Given the description of an element on the screen output the (x, y) to click on. 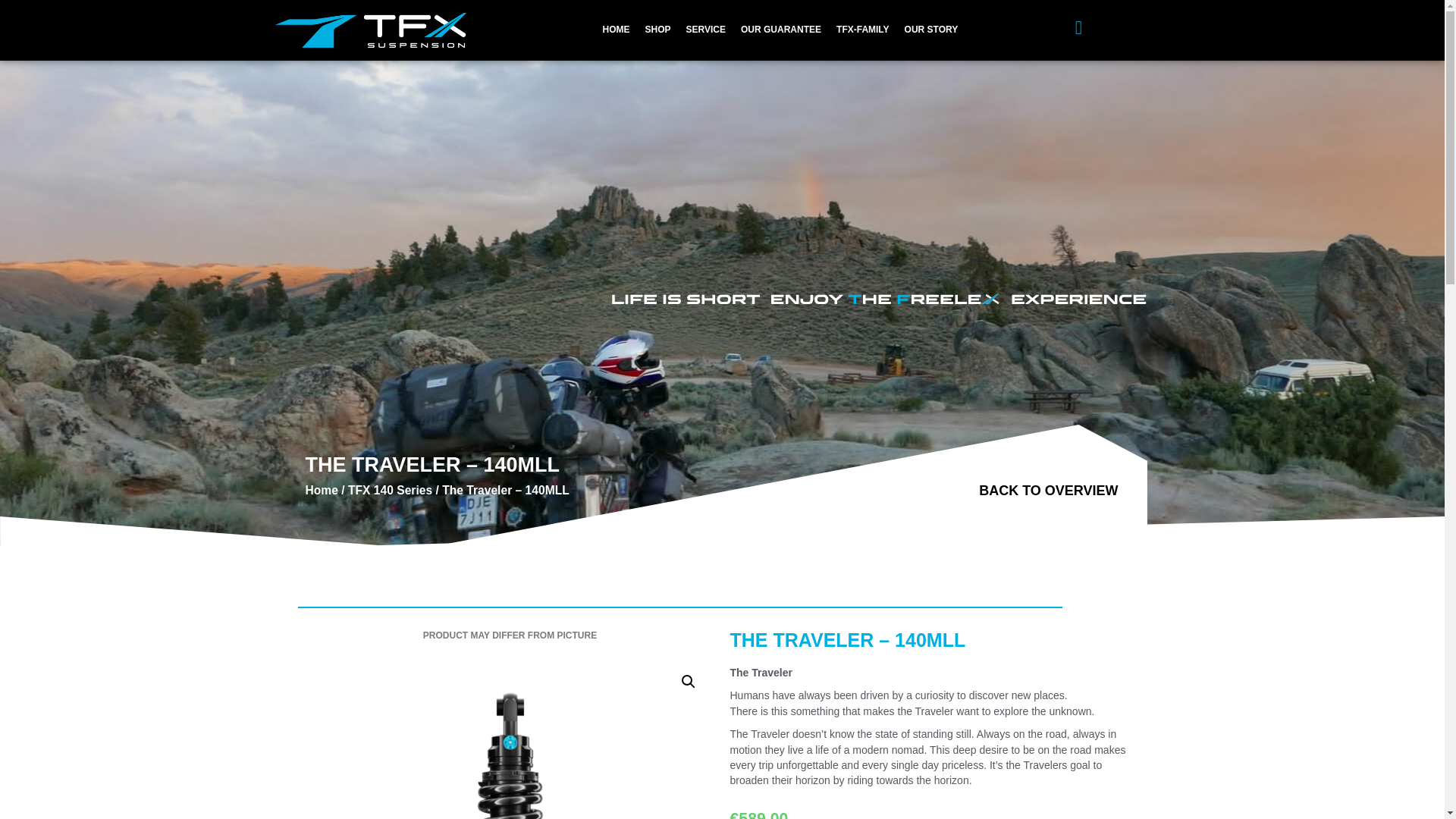
TFX-FAMILY (862, 30)
140MLL (509, 737)
SERVICE (705, 30)
TFX 140 Series (389, 490)
BACK TO OVERVIEW (1045, 491)
Home (320, 490)
HOME (616, 30)
OUR GUARANTEE (780, 30)
SHOP (657, 30)
OUR STORY (931, 30)
